Given the description of an element on the screen output the (x, y) to click on. 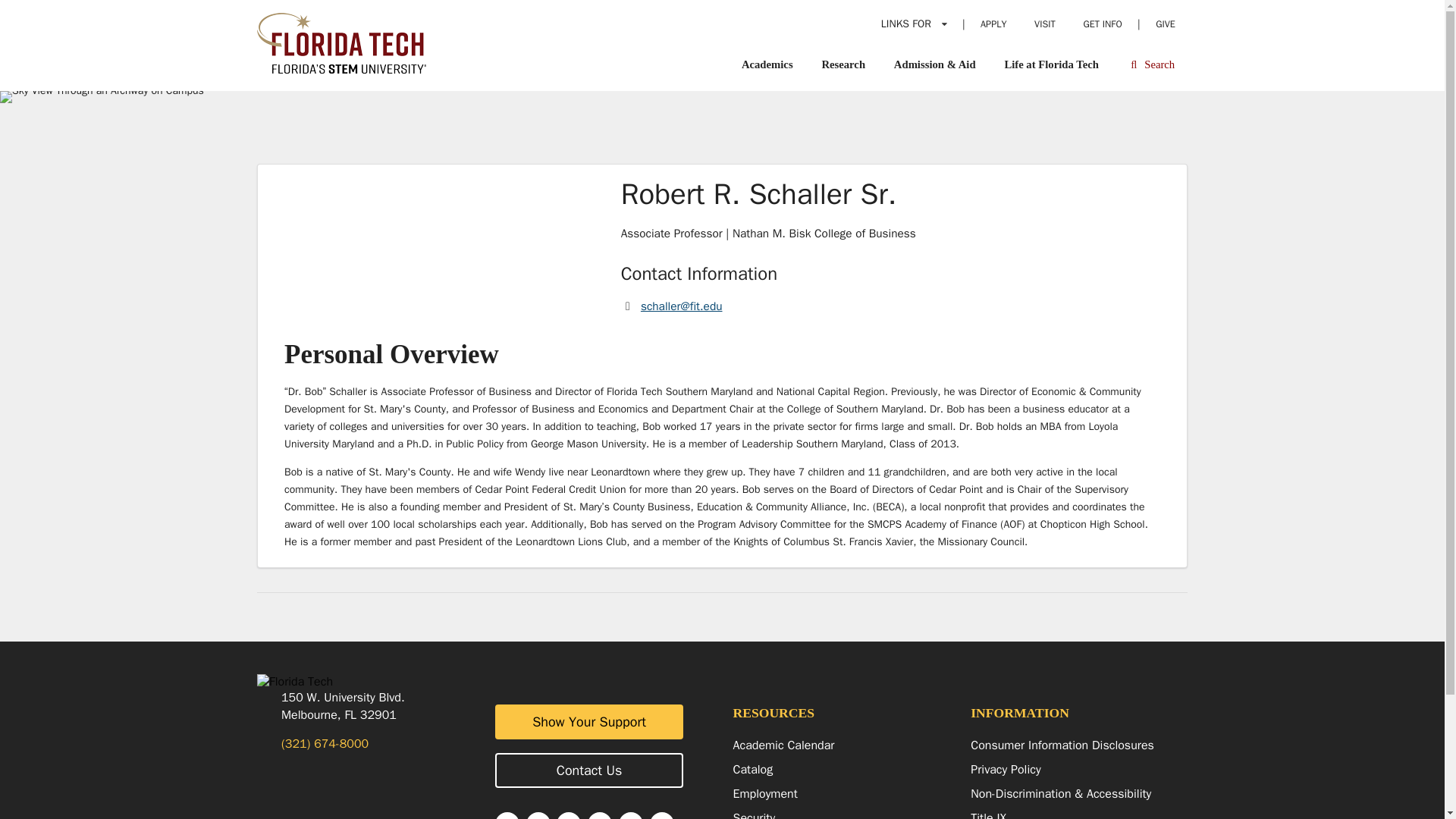
Academics (767, 64)
Research (843, 64)
